Given the description of an element on the screen output the (x, y) to click on. 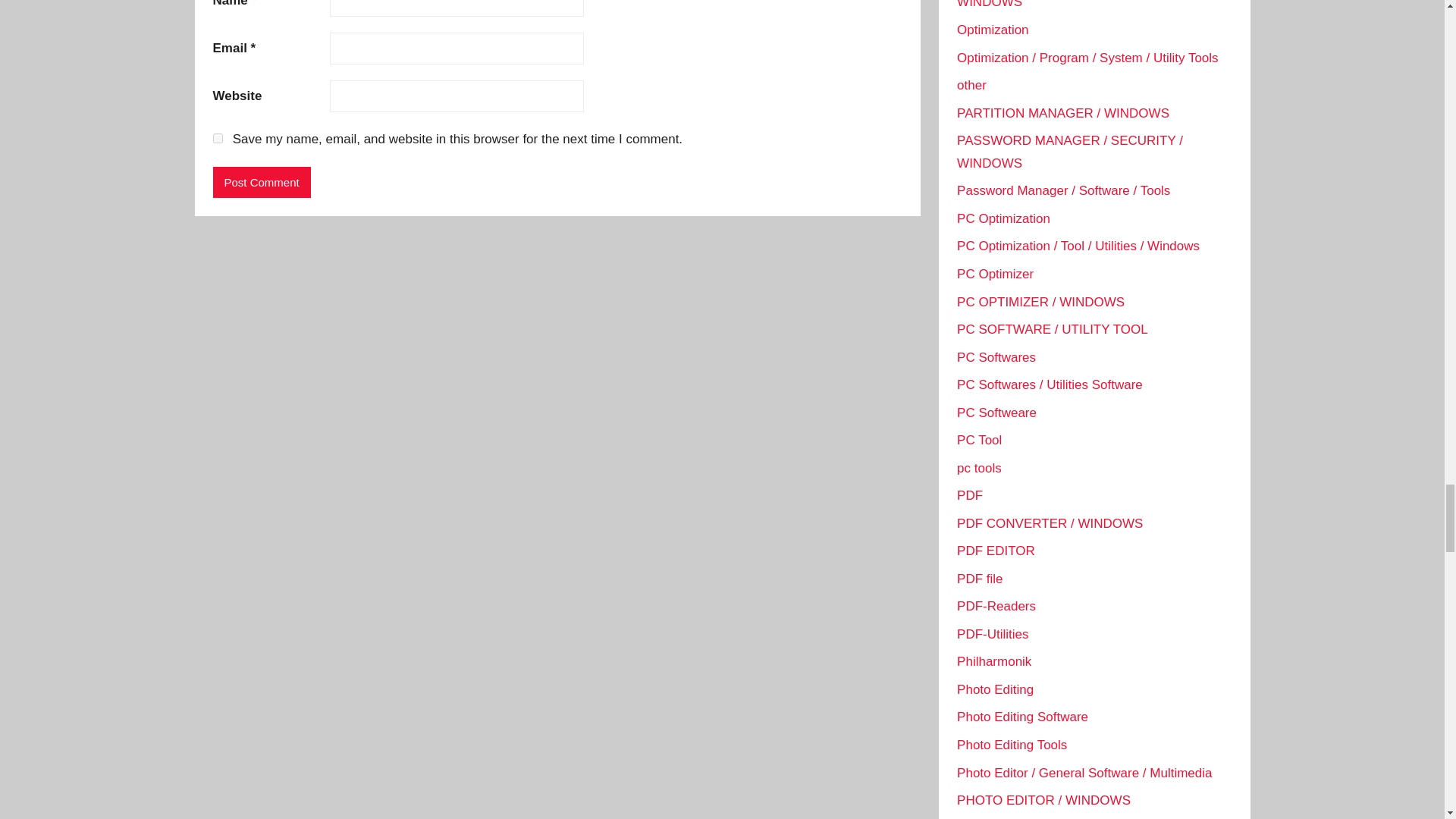
yes (217, 138)
Post Comment (261, 182)
